Given the description of an element on the screen output the (x, y) to click on. 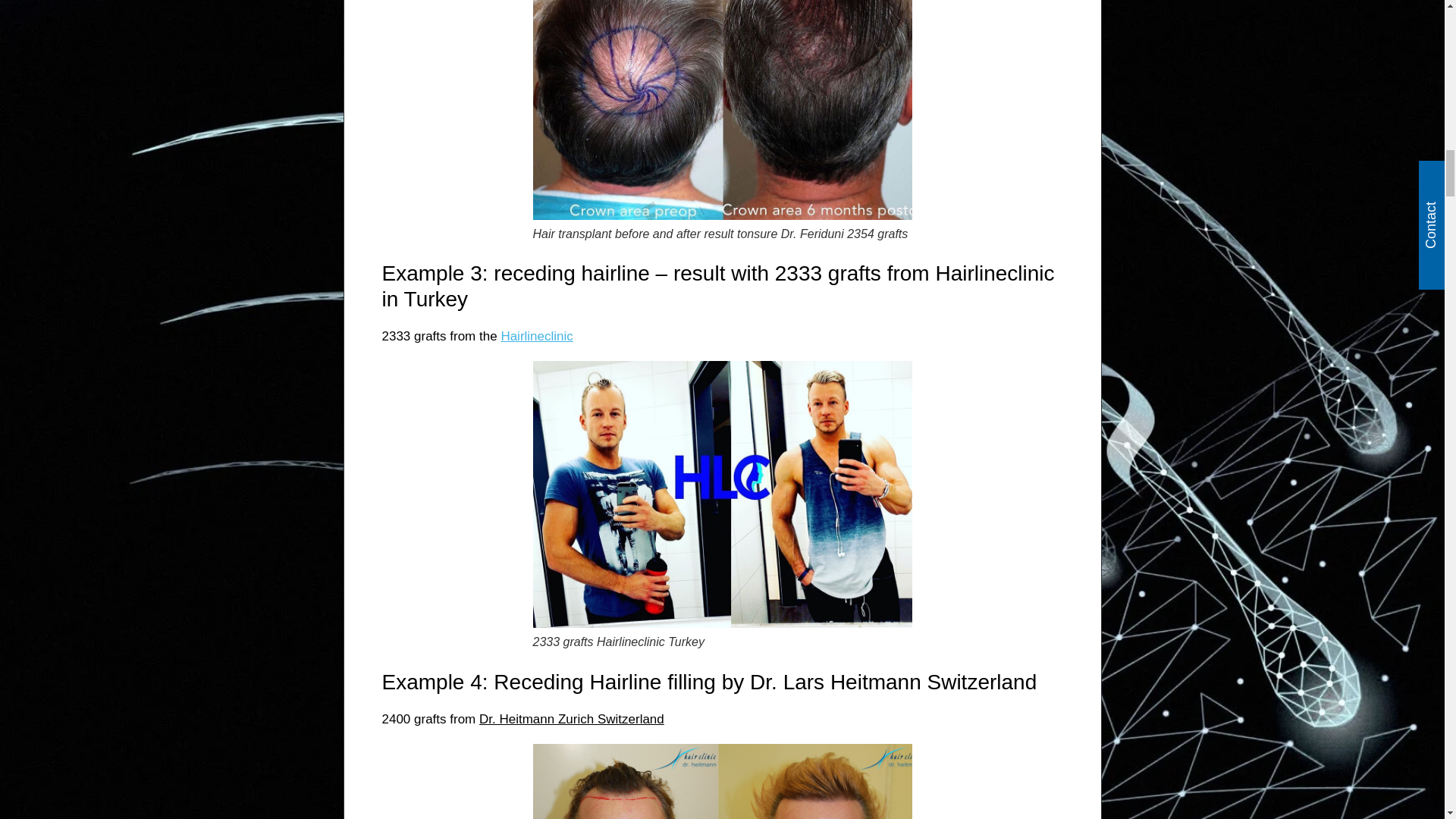
Hairlineclinic (536, 336)
